Given the description of an element on the screen output the (x, y) to click on. 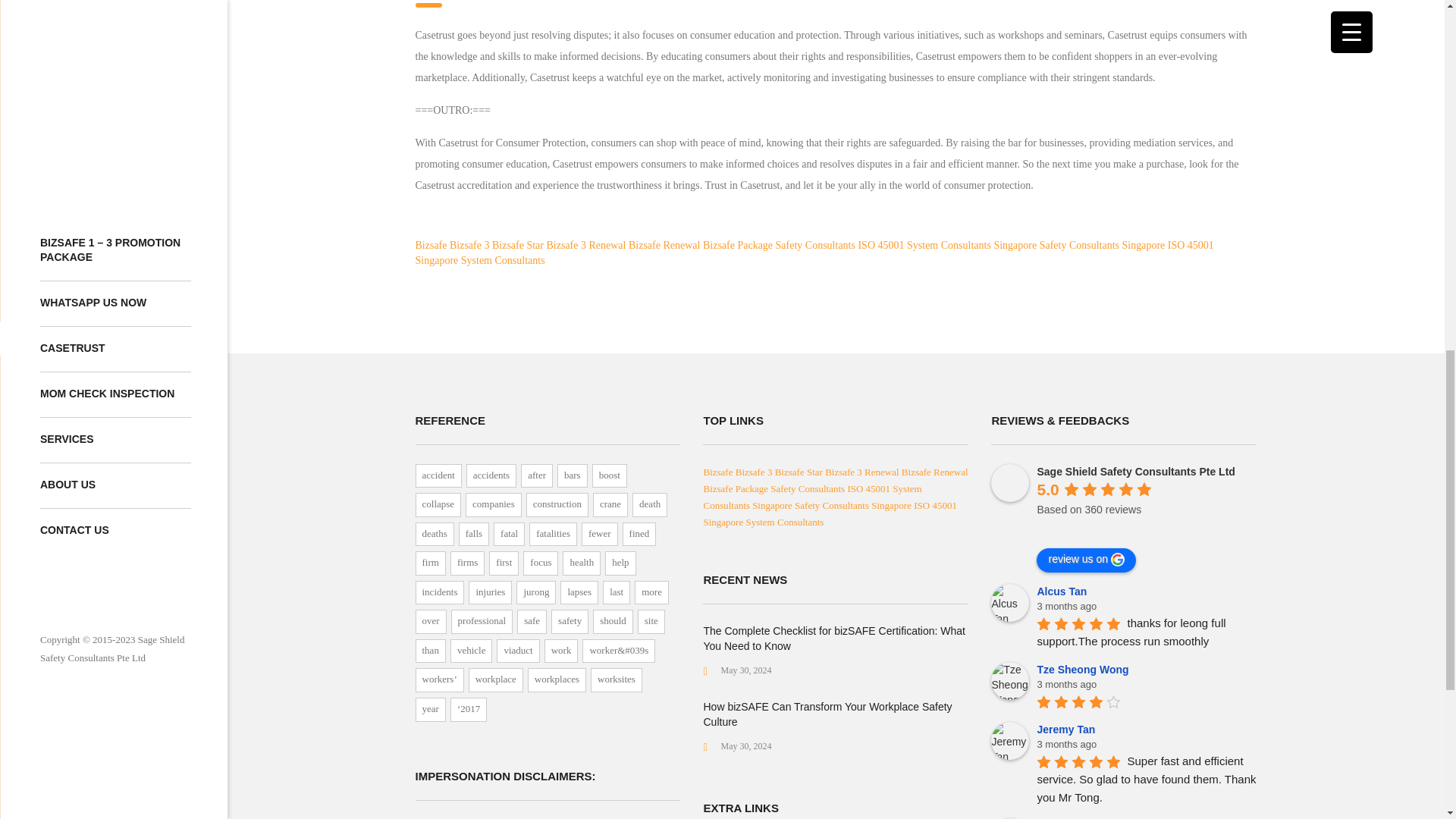
boost (609, 476)
after (537, 476)
Bizsafe Package (738, 244)
Sage Shield Safety Consultants Pte Ltd (1010, 483)
Safety Consultants (816, 244)
Singapore System Consultants (479, 260)
ISO 45001 (880, 244)
accident (437, 476)
accidents (490, 476)
powered by Google (1090, 528)
Bizsafe Star (517, 244)
Jeremy Tan (1010, 740)
bars (572, 476)
System Consultants (949, 244)
Bizsafe (430, 244)
